Given the description of an element on the screen output the (x, y) to click on. 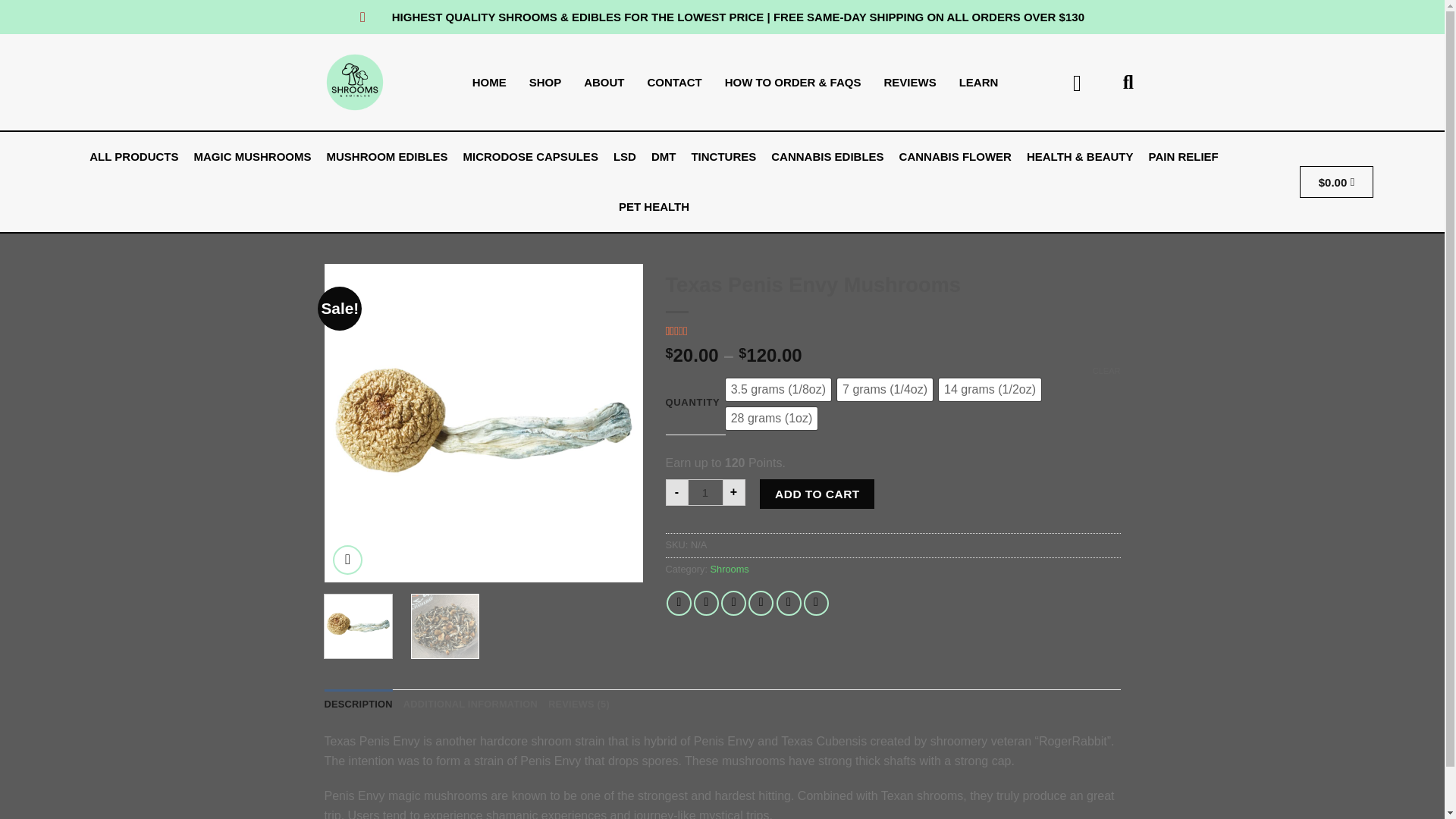
MICRODOSE CAPSULES (530, 156)
CANNABIS FLOWER (955, 156)
HOME (489, 82)
Share on Twitter (706, 602)
Pin on Pinterest (760, 602)
REVIEWS (909, 82)
LEARN (978, 82)
Share on Facebook (678, 602)
ALL PRODUCTS (133, 156)
Zoom (347, 559)
